Given the description of an element on the screen output the (x, y) to click on. 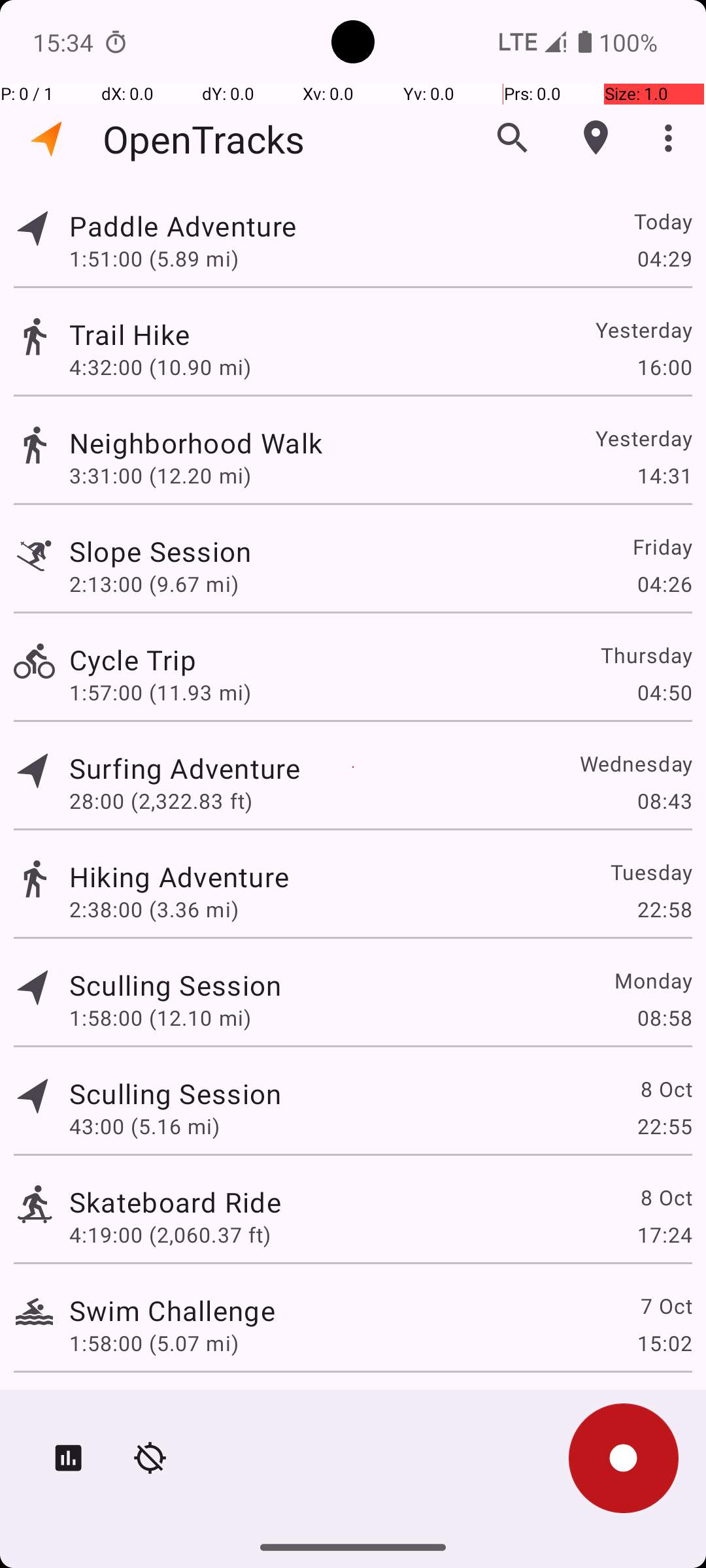
Paddle Adventure Element type: android.widget.TextView (182, 225)
1:51:00 (5.89 mi) Element type: android.widget.TextView (153, 258)
04:29 Element type: android.widget.TextView (664, 258)
Trail Hike Element type: android.widget.TextView (129, 333)
4:32:00 (10.90 mi) Element type: android.widget.TextView (159, 366)
Neighborhood Walk Element type: android.widget.TextView (195, 442)
3:31:00 (12.20 mi) Element type: android.widget.TextView (159, 475)
14:31 Element type: android.widget.TextView (664, 475)
Slope Session Element type: android.widget.TextView (160, 550)
2:13:00 (9.67 mi) Element type: android.widget.TextView (153, 583)
04:26 Element type: android.widget.TextView (664, 583)
Cycle Trip Element type: android.widget.TextView (132, 659)
1:57:00 (11.93 mi) Element type: android.widget.TextView (159, 692)
04:50 Element type: android.widget.TextView (664, 692)
Surfing Adventure Element type: android.widget.TextView (184, 767)
28:00 (2,322.83 ft) Element type: android.widget.TextView (160, 800)
08:43 Element type: android.widget.TextView (664, 800)
Hiking Adventure Element type: android.widget.TextView (178, 876)
2:38:00 (3.36 mi) Element type: android.widget.TextView (153, 909)
22:58 Element type: android.widget.TextView (664, 909)
Sculling Session Element type: android.widget.TextView (174, 984)
1:58:00 (12.10 mi) Element type: android.widget.TextView (159, 1017)
08:58 Element type: android.widget.TextView (664, 1017)
43:00 (5.16 mi) Element type: android.widget.TextView (144, 1125)
22:55 Element type: android.widget.TextView (664, 1125)
Skateboard Ride Element type: android.widget.TextView (174, 1201)
4:19:00 (2,060.37 ft) Element type: android.widget.TextView (169, 1234)
17:24 Element type: android.widget.TextView (664, 1234)
Swim Challenge Element type: android.widget.TextView (171, 1309)
1:58:00 (5.07 mi) Element type: android.widget.TextView (153, 1342)
15:02 Element type: android.widget.TextView (664, 1342)
Off-road Run Element type: android.widget.TextView (151, 1408)
